Given the description of an element on the screen output the (x, y) to click on. 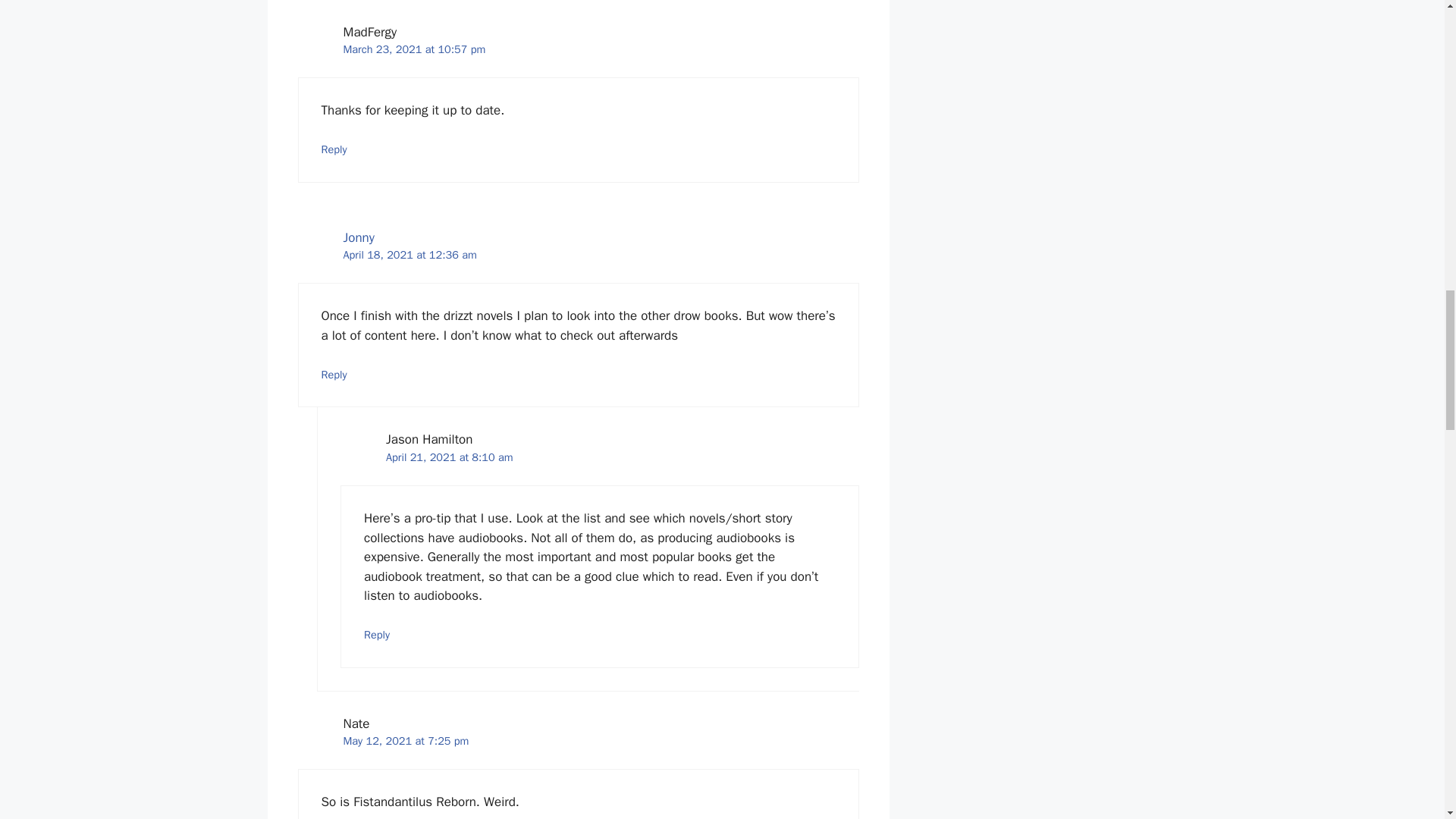
Reply (334, 149)
Reply (377, 634)
Jonny (358, 237)
April 18, 2021 at 12:36 am (409, 254)
Reply (334, 374)
March 23, 2021 at 10:57 pm (413, 49)
April 21, 2021 at 8:10 am (449, 457)
May 12, 2021 at 7:25 pm (405, 740)
